Given the description of an element on the screen output the (x, y) to click on. 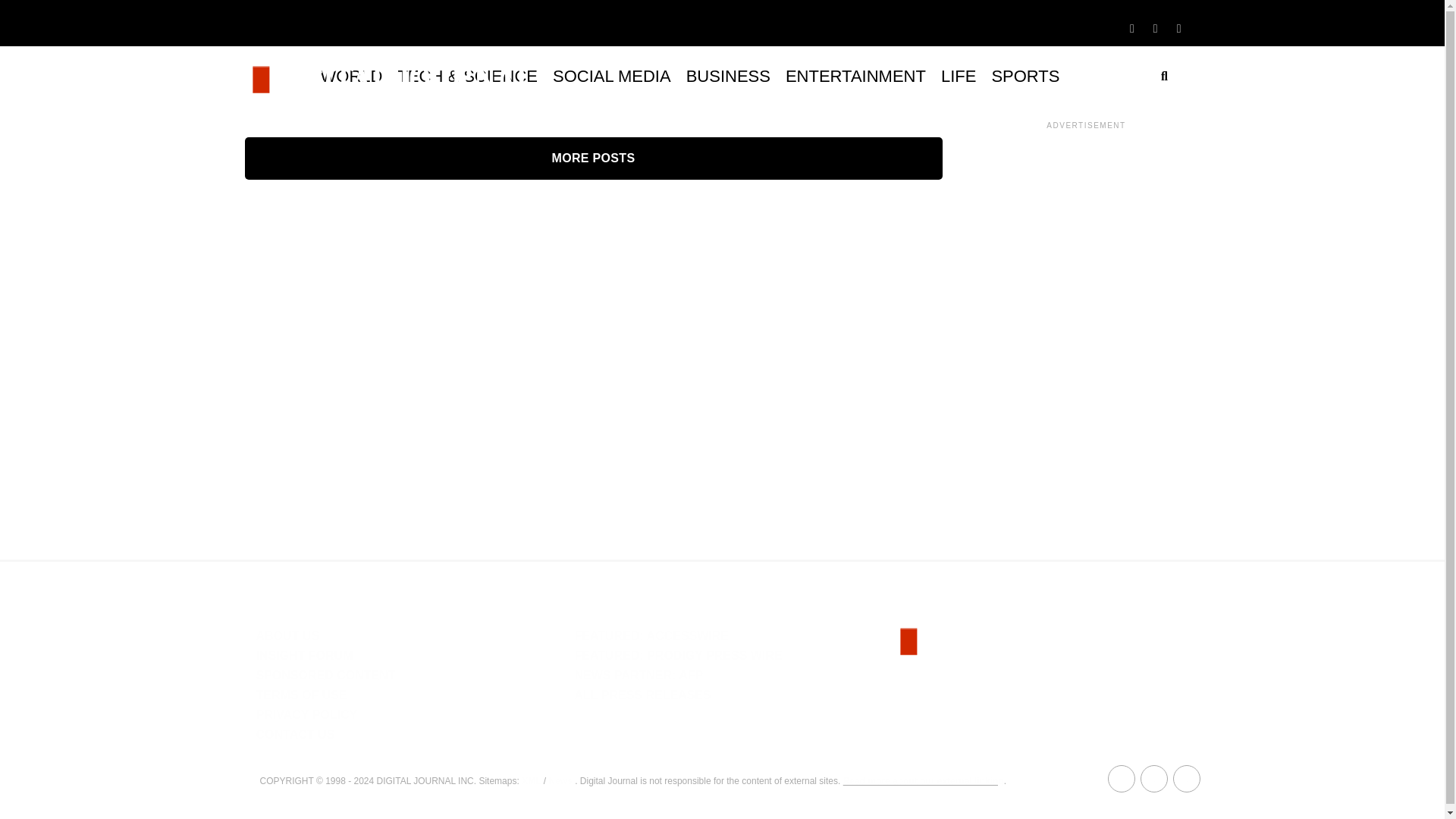
News (560, 779)
TERMS OF USE (301, 694)
CONTACT US (295, 734)
PRIVACY POLICY (307, 714)
ABOUT US (288, 635)
WORLD (351, 76)
FEATURED: ACCESSWIRE (651, 635)
FEATURED: PRODIGY PRESS WIRE (677, 655)
MORE POSTS (593, 158)
ALL PRESS RELEASES (641, 694)
